Given the description of an element on the screen output the (x, y) to click on. 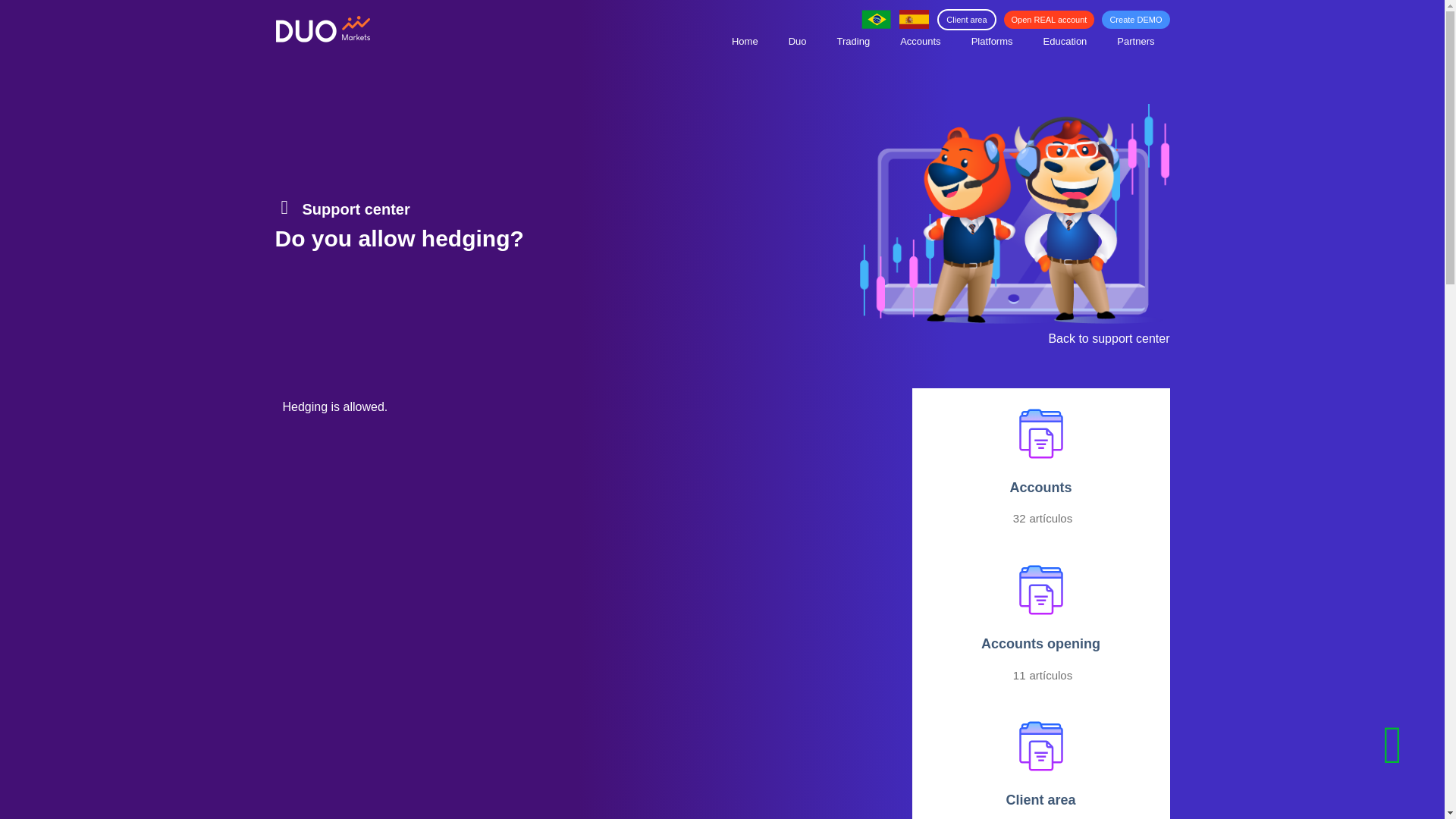
Create DEMO (1135, 19)
Education (1064, 41)
Trading (853, 41)
Partners (1135, 41)
Accounts (920, 41)
Platforms (991, 41)
Open REAL account (1049, 19)
Client area (966, 19)
Duo (797, 41)
Home (744, 41)
